Given the description of an element on the screen output the (x, y) to click on. 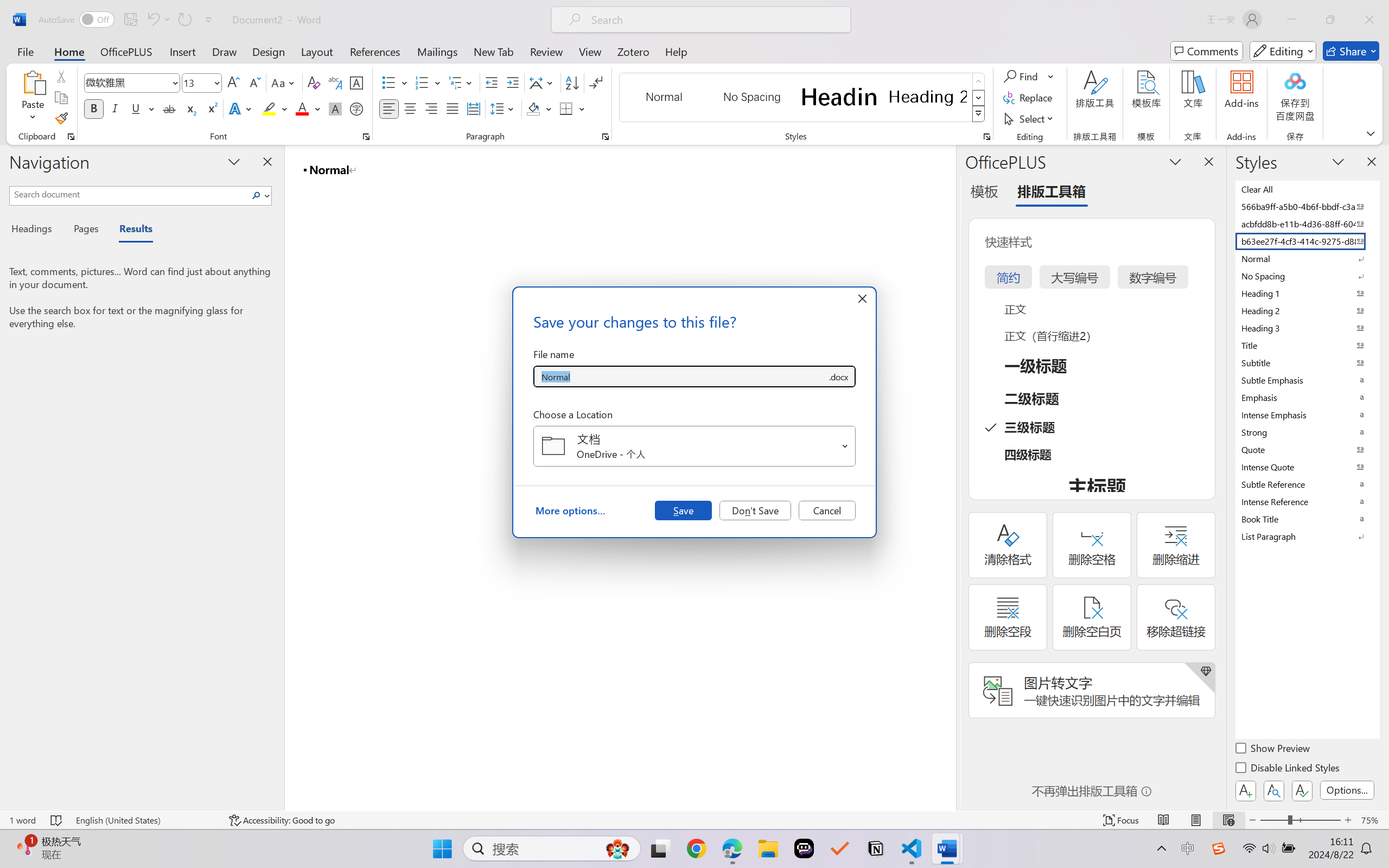
Shading (539, 108)
Poe (804, 848)
Disable Linked Styles (1287, 769)
Review (546, 51)
Styles... (986, 136)
Task Pane Options (1175, 161)
